Given the description of an element on the screen output the (x, y) to click on. 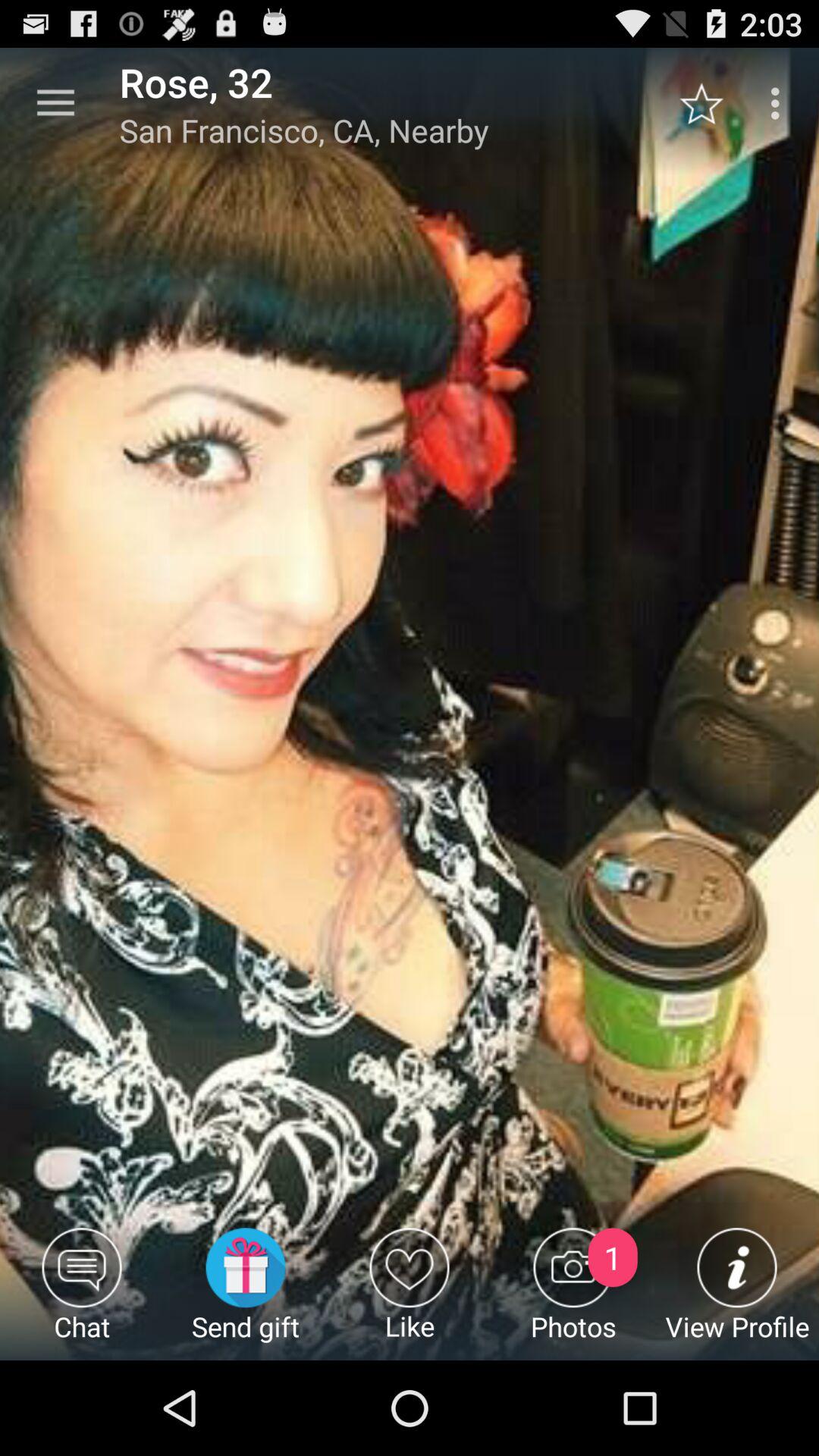
turn on the item above the view profile item (709, 103)
